Given the description of an element on the screen output the (x, y) to click on. 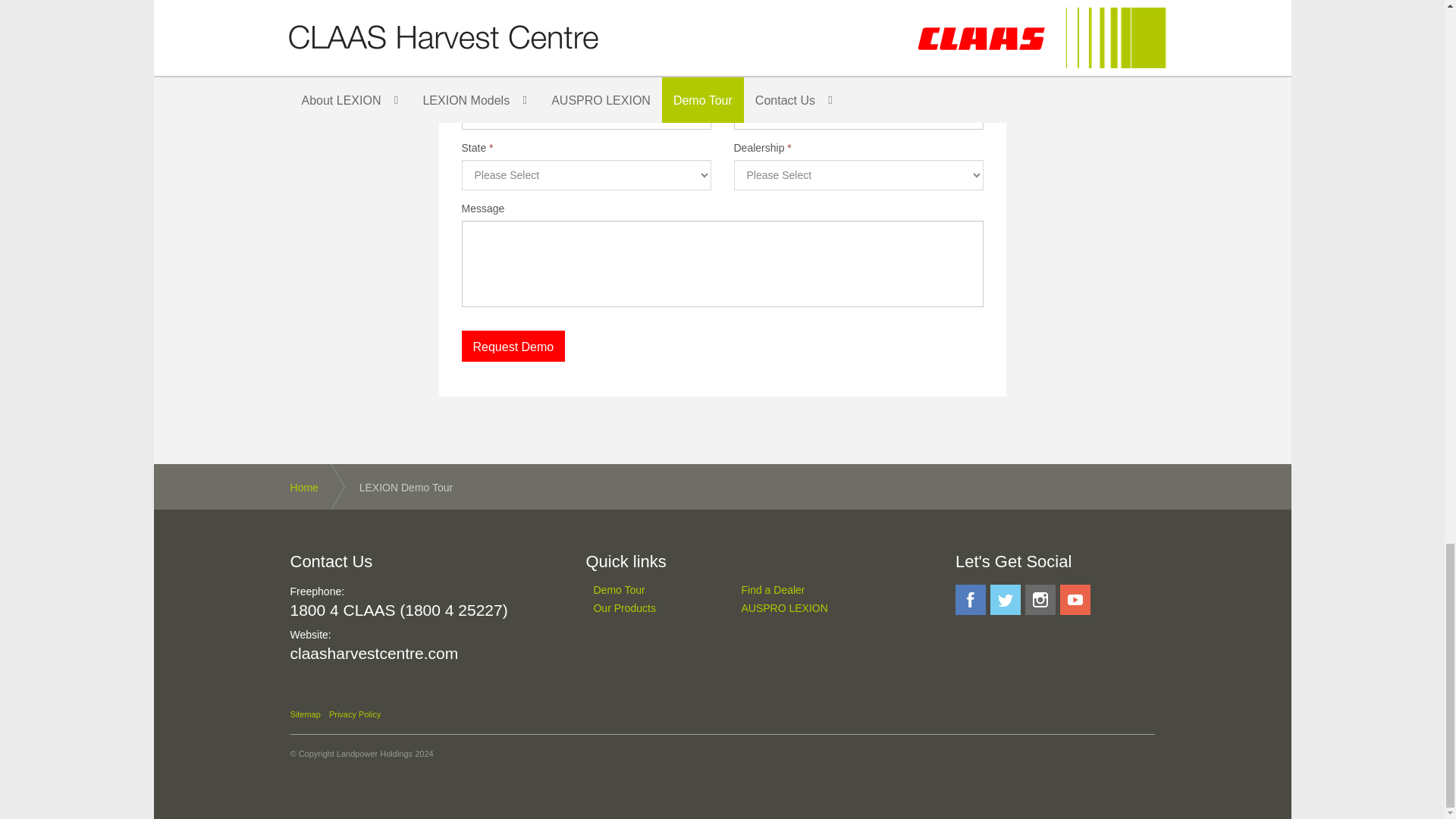
Landpower Holdings (374, 753)
youtube (1074, 599)
Demo Tour (647, 589)
Request Demo (512, 345)
facebook (970, 599)
Find a Dealer (796, 589)
claasharvestcentre.com (373, 652)
twitter (1005, 599)
Sitemap (304, 714)
Privacy Policy (354, 714)
Landpower Holdings (374, 753)
Home (318, 486)
Our Products (647, 607)
AUSPRO LEXION (796, 607)
instagram (1040, 599)
